Given the description of an element on the screen output the (x, y) to click on. 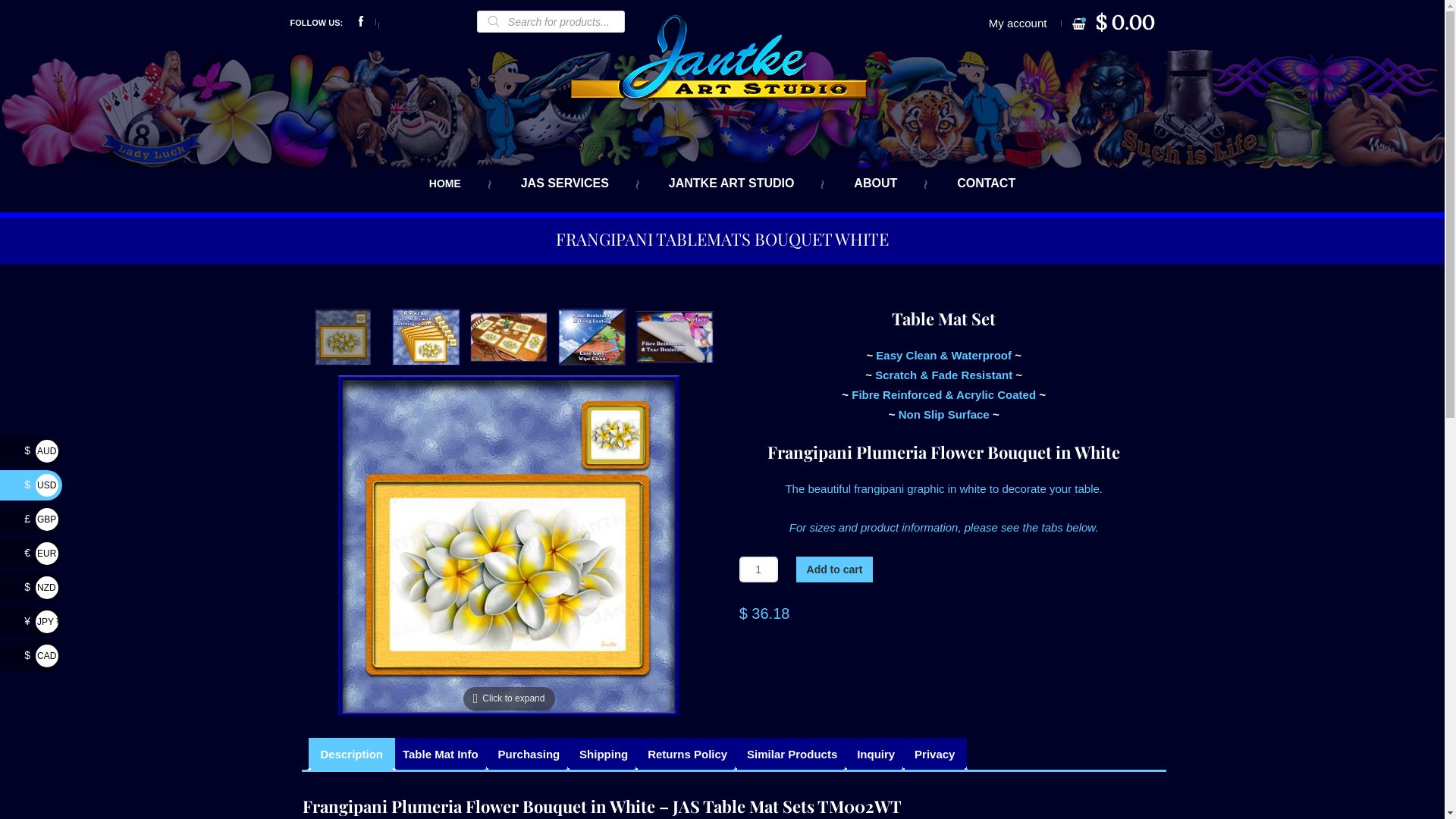
$USD $ Element type: text (41, 484)
$ 0.00 Element type: text (1124, 24)
$AUD $ Element type: text (41, 450)
$NZD $ Element type: text (41, 586)
Similar Products Element type: text (791, 753)
My account Element type: text (1017, 22)
Returns Policy Element type: text (687, 753)
Privacy Element type: text (934, 753)
ABOUT Element type: text (875, 183)
$CAD $ Element type: text (41, 655)
Add to cart Element type: text (834, 569)
JAS SERVICES Element type: text (564, 183)
Shipping Element type: text (603, 753)
Table Mat Info Element type: text (440, 753)
Description Element type: text (351, 753)
Click to expand Element type: text (508, 545)
Purchasing Element type: text (529, 753)
Inquiry Element type: text (875, 753)
JANTKE ART STUDIO Element type: text (731, 183)
CONTACT Element type: text (980, 183)
HOME Element type: text (450, 183)
